Given the description of an element on the screen output the (x, y) to click on. 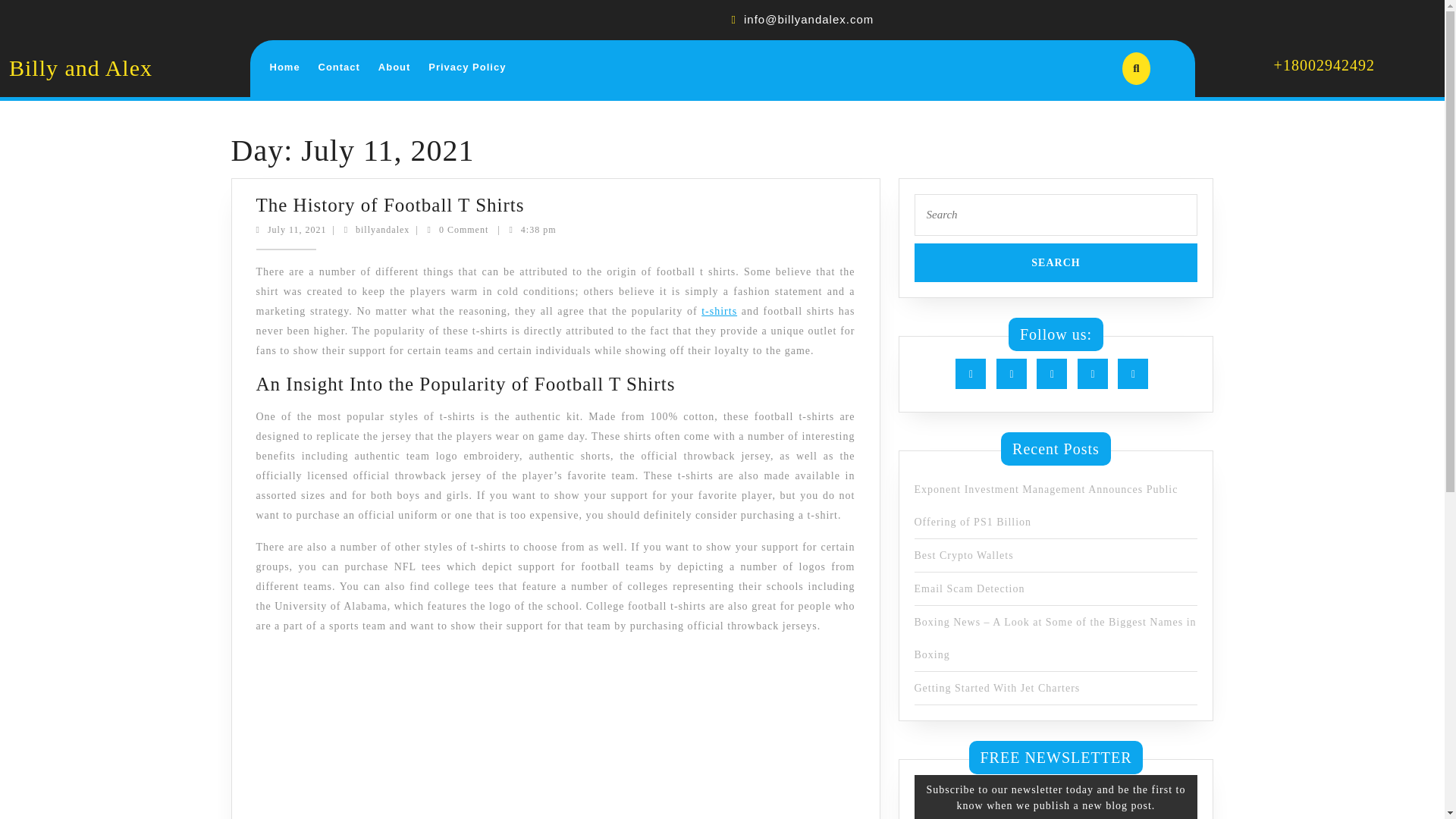
Facebook (973, 374)
Linkedin (1055, 374)
Instagram (1096, 374)
About (278, 229)
t-shirts (395, 66)
Contact (632, 310)
Best Crypto Wallets (339, 66)
Privacy Policy (963, 555)
Search (466, 66)
